Given the description of an element on the screen output the (x, y) to click on. 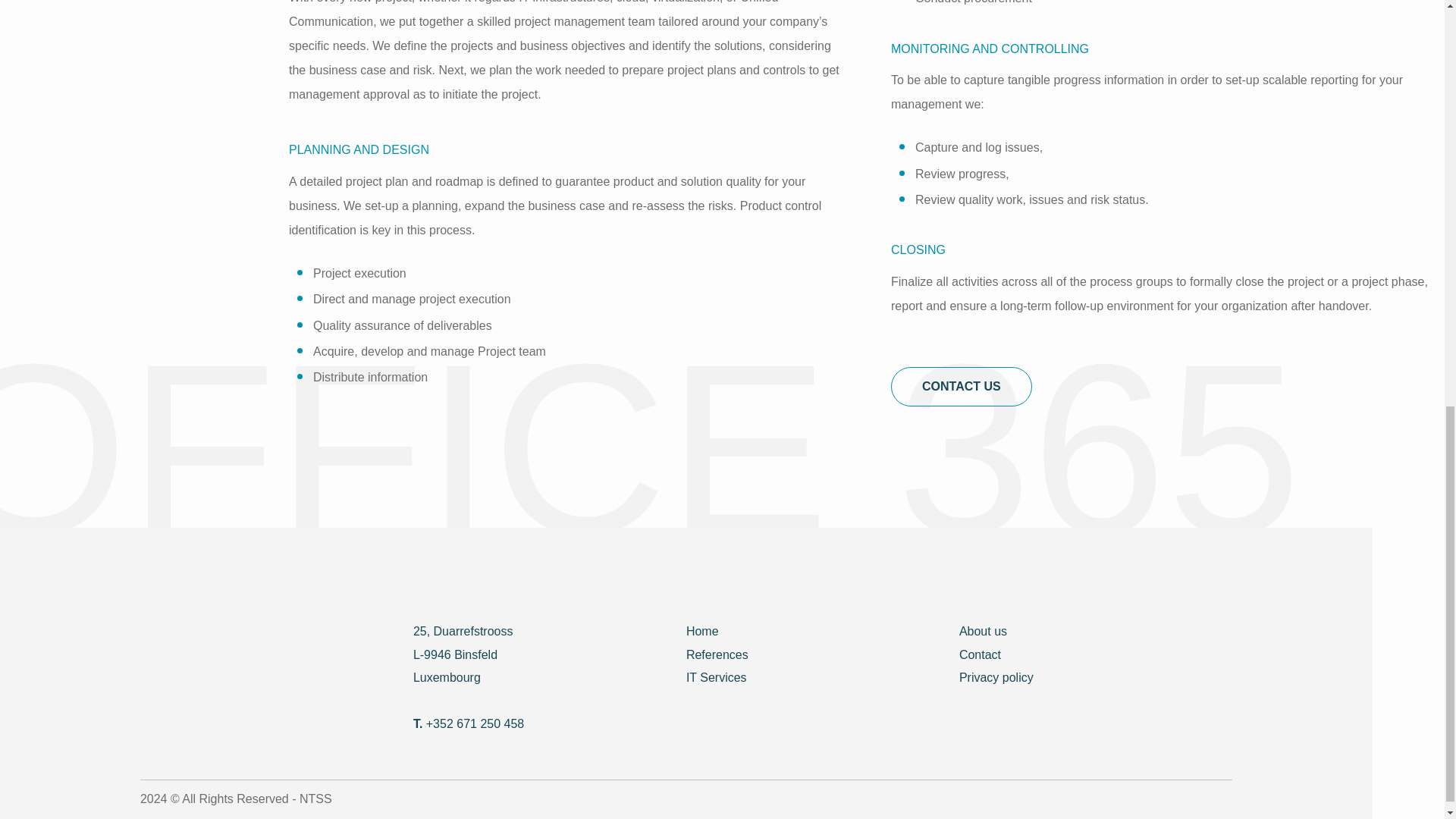
About us (983, 631)
References (716, 653)
Home (702, 631)
CONTACT US (961, 386)
Contact (980, 653)
Privacy policy (996, 676)
IT Services (715, 676)
